Given the description of an element on the screen output the (x, y) to click on. 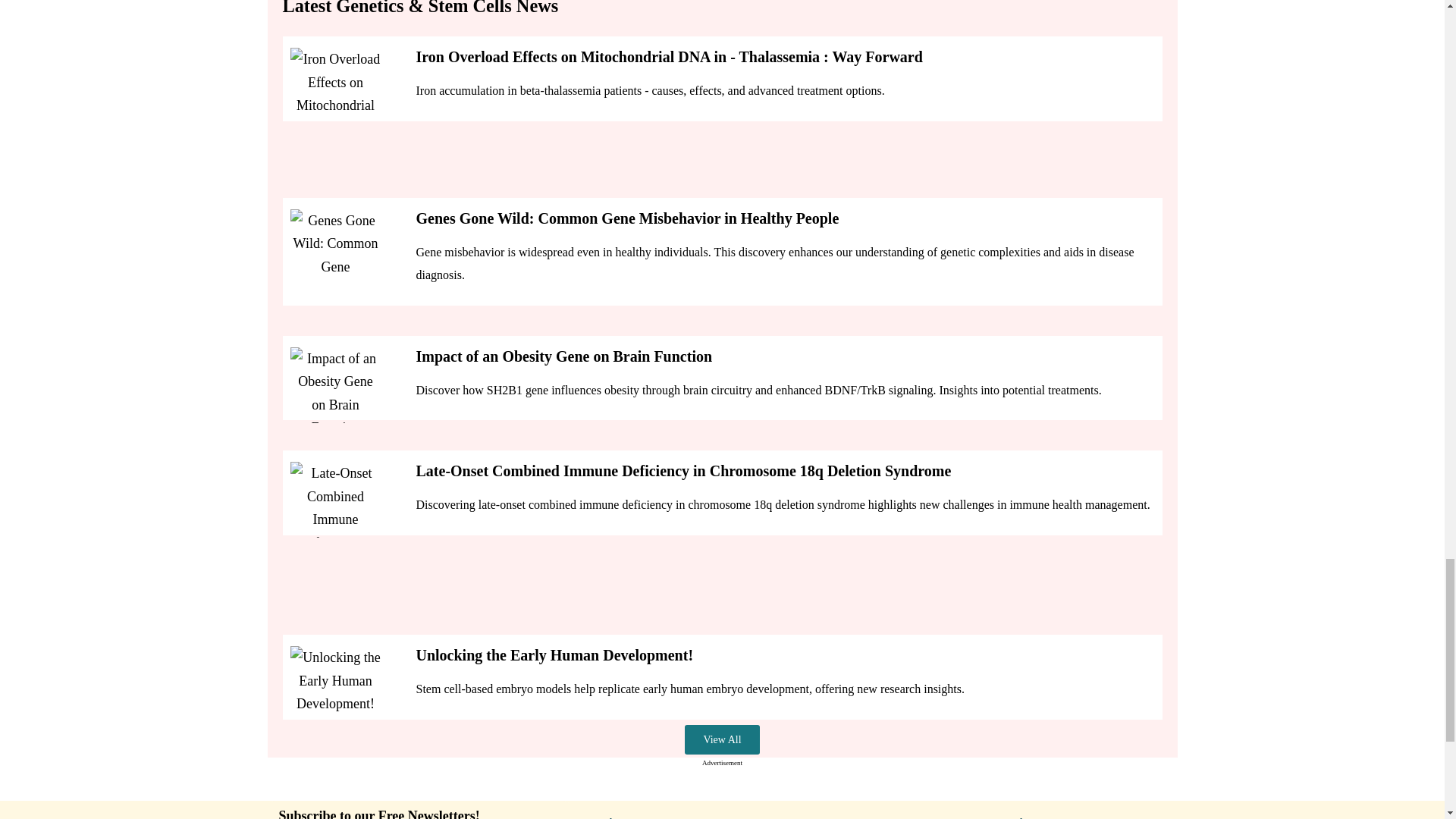
Genes Gone Wild: Common Gene Misbehavior in Healthy People (334, 247)
Impact of an Obesity Gene on Brain Function (334, 385)
